Given the description of an element on the screen output the (x, y) to click on. 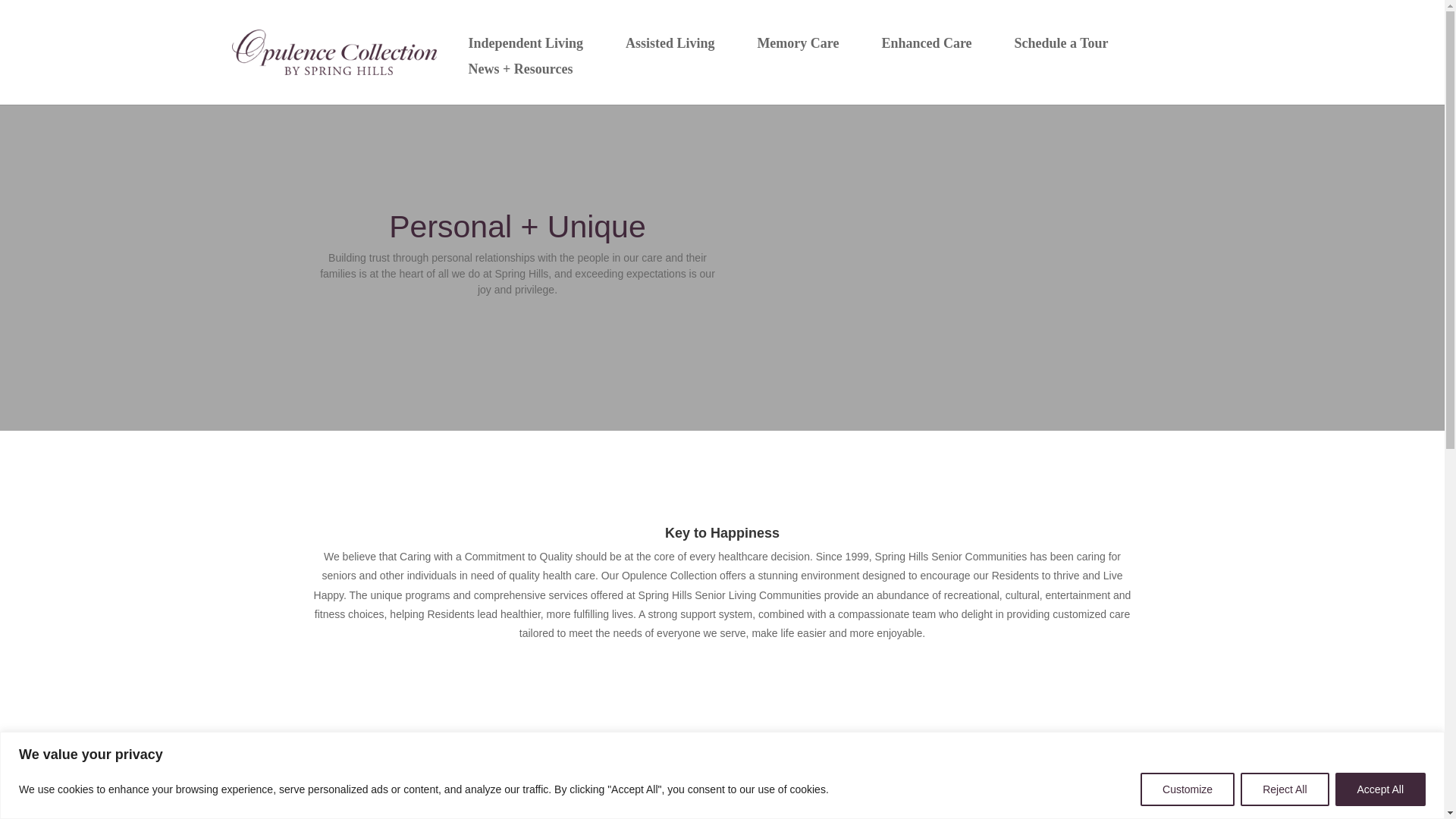
Customize (1187, 788)
Schedule a Tour (1061, 43)
Memory Care (797, 43)
Enhanced Care (925, 43)
Assisted Living (670, 43)
Independent Living (525, 43)
Reject All (1283, 788)
Accept All (1380, 788)
